Given the description of an element on the screen output the (x, y) to click on. 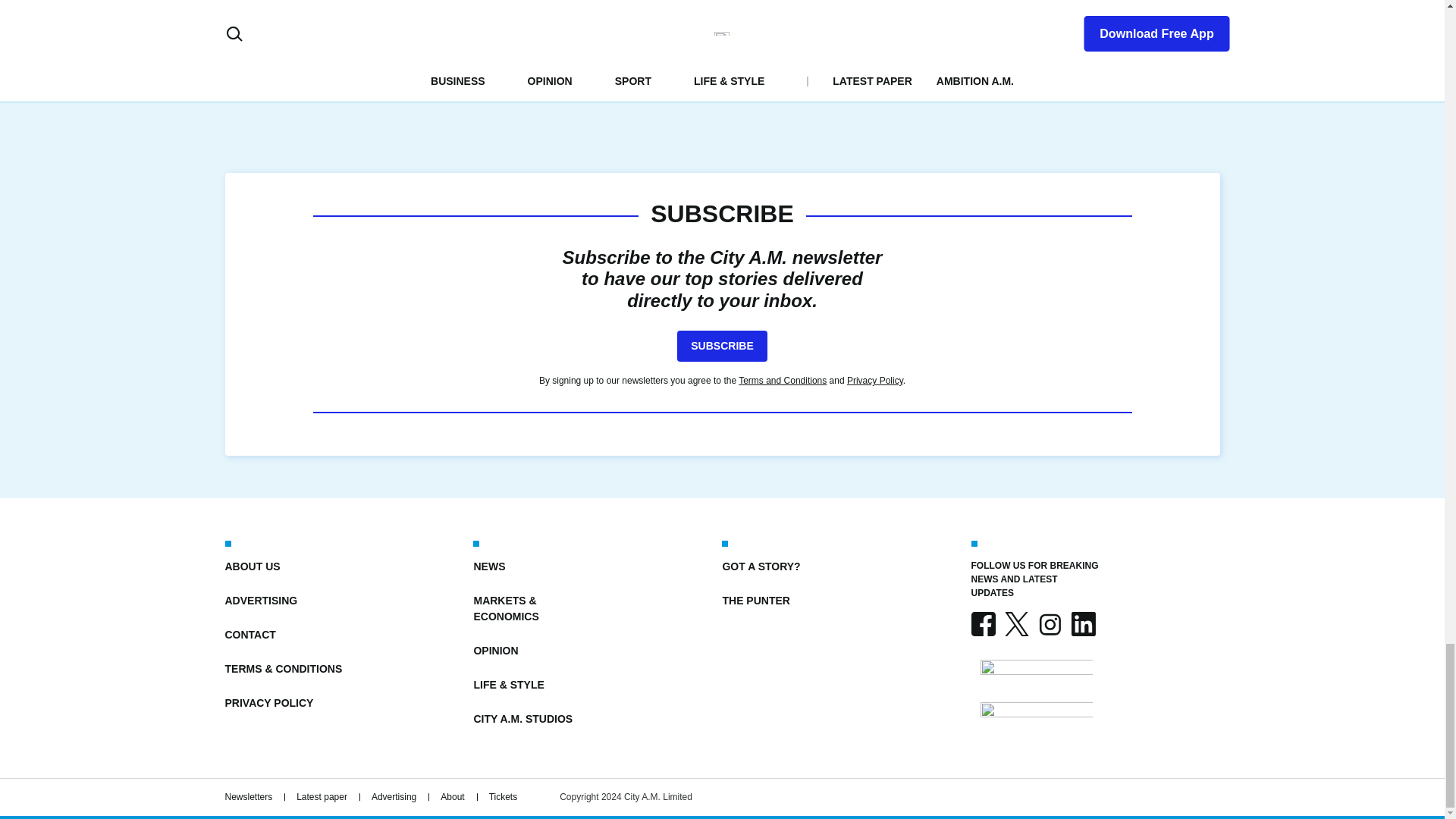
FACEBOOK (982, 623)
LINKEDIN (1082, 623)
X (1015, 623)
INSTAGRAM (1048, 623)
